Given the description of an element on the screen output the (x, y) to click on. 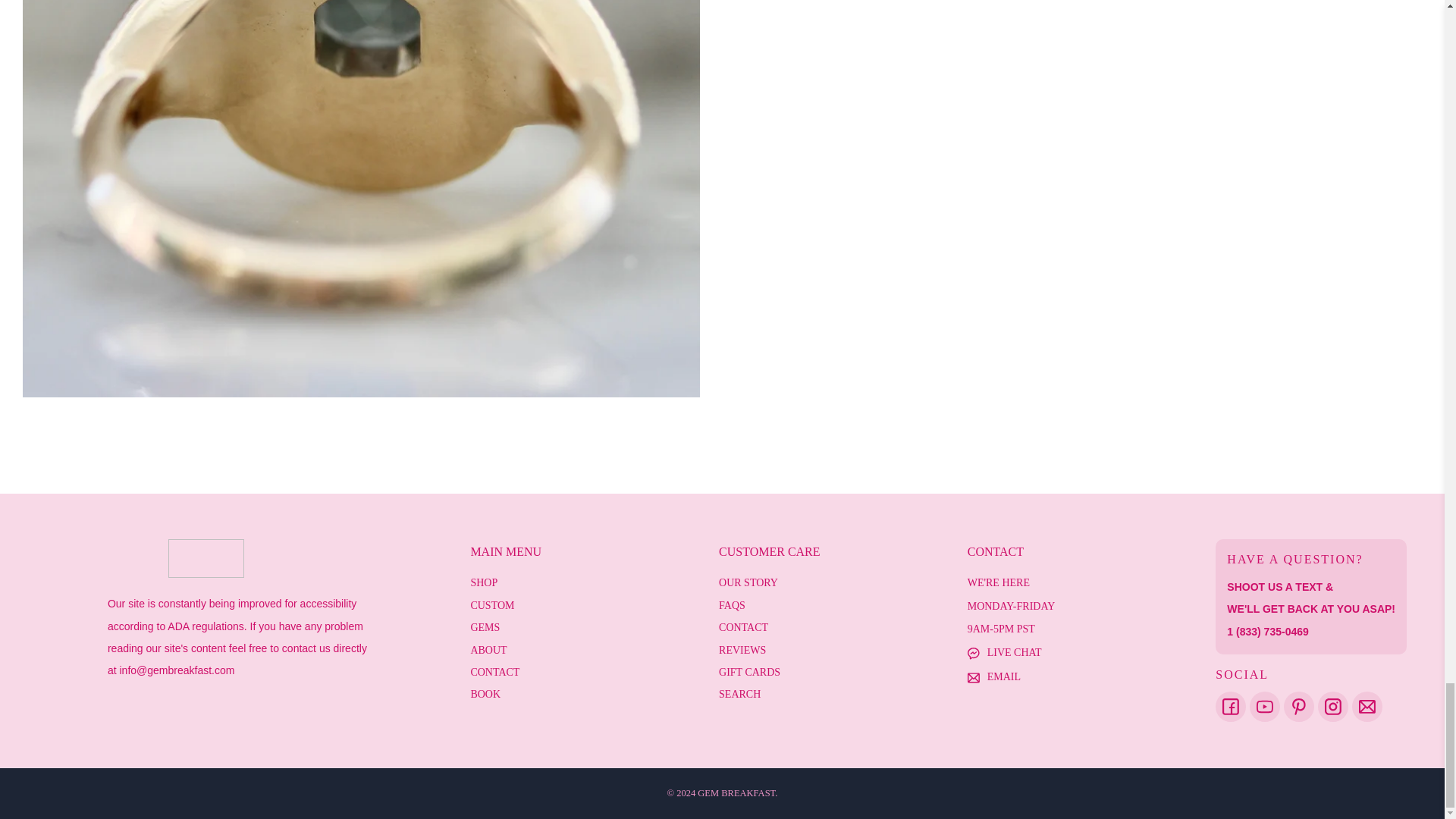
Gem Breakfast (205, 565)
